Given the description of an element on the screen output the (x, y) to click on. 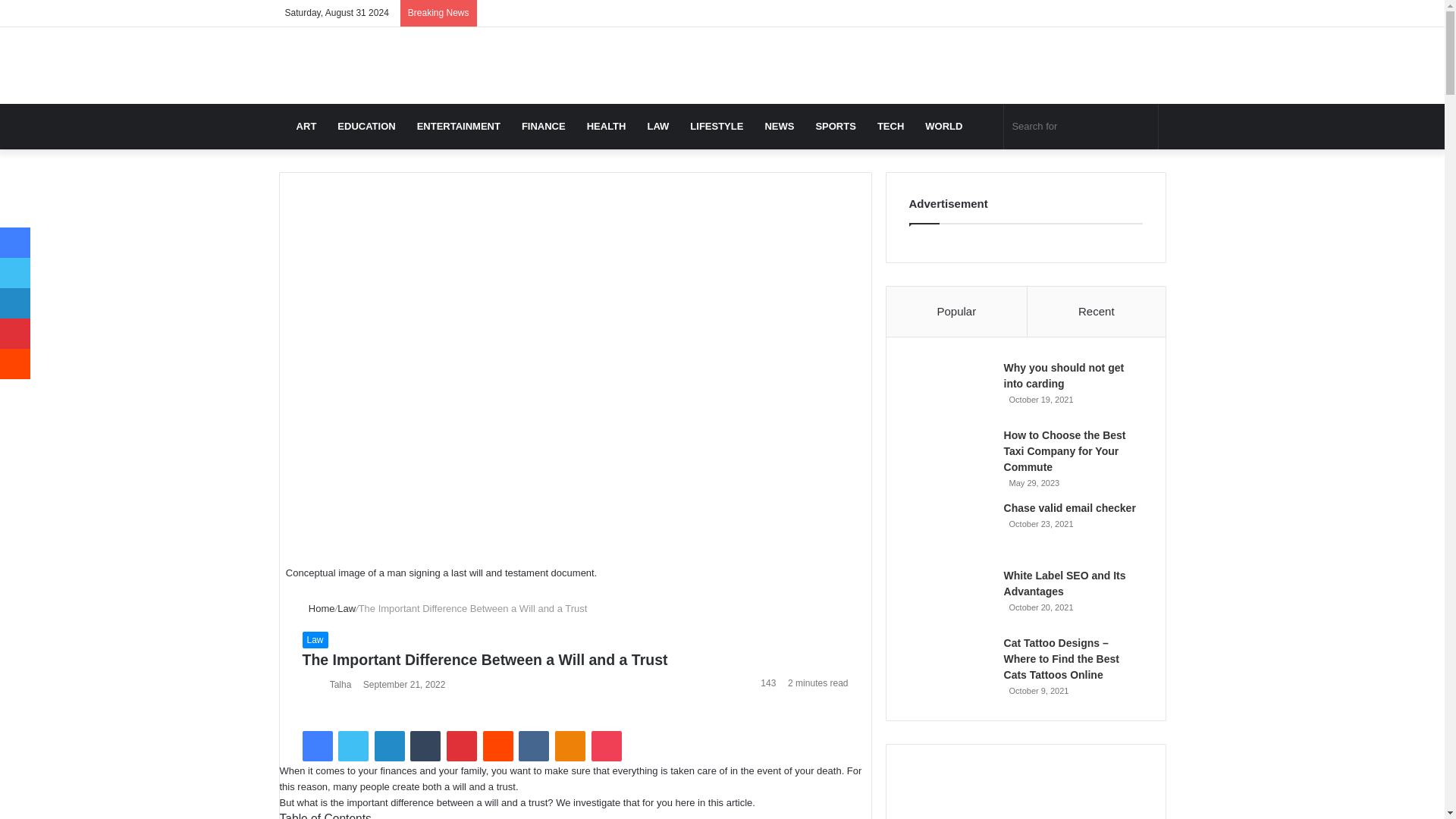
Twitter (352, 746)
LinkedIn (389, 746)
ENTERTAINMENT (458, 126)
Odnoklassniki (569, 746)
SPORTS (835, 126)
HEALTH (606, 126)
Search for (1080, 126)
Facebook (316, 746)
Talha (341, 684)
FINANCE (543, 126)
